Given the description of an element on the screen output the (x, y) to click on. 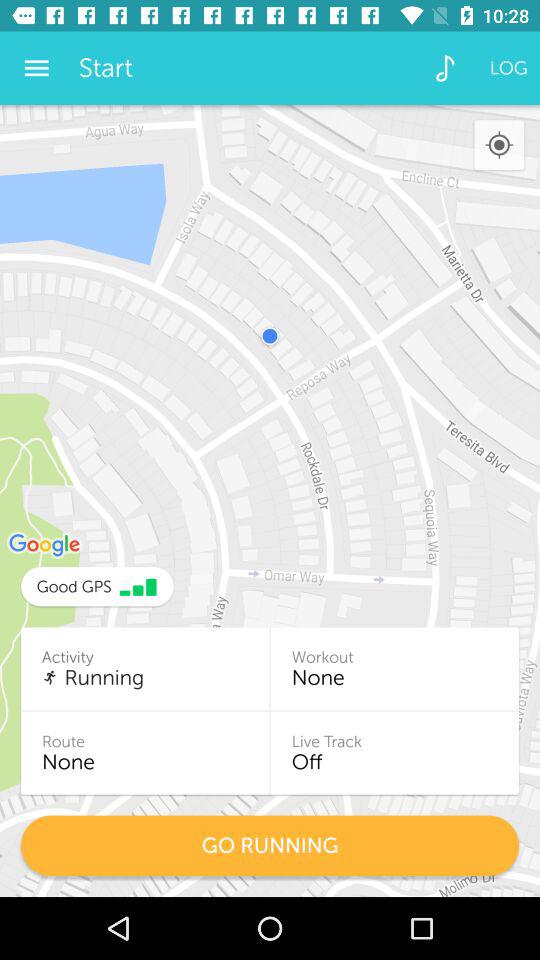
press the app to the left of the start icon (36, 68)
